Given the description of an element on the screen output the (x, y) to click on. 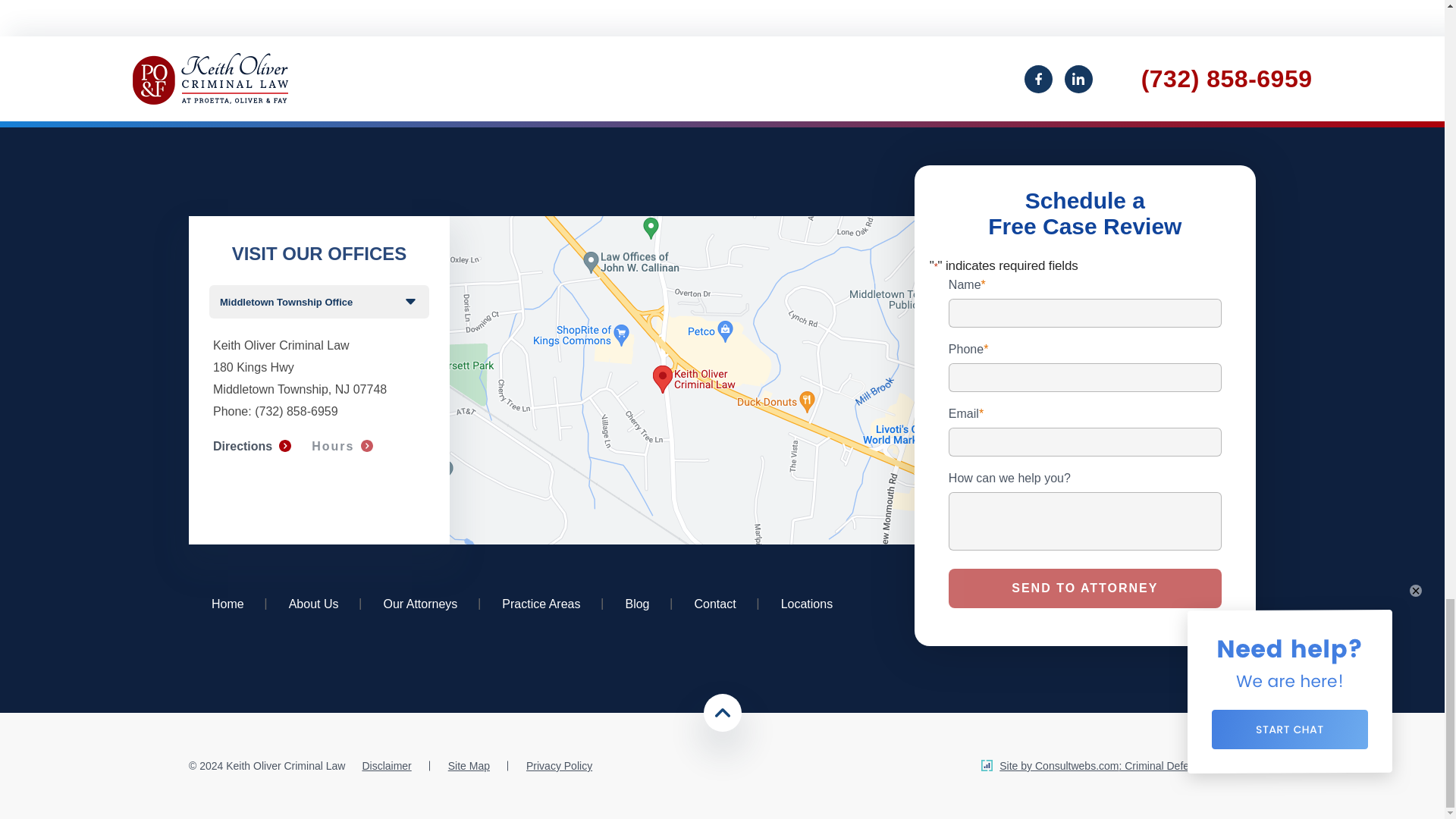
Send to Attorney (1085, 588)
